Given the description of an element on the screen output the (x, y) to click on. 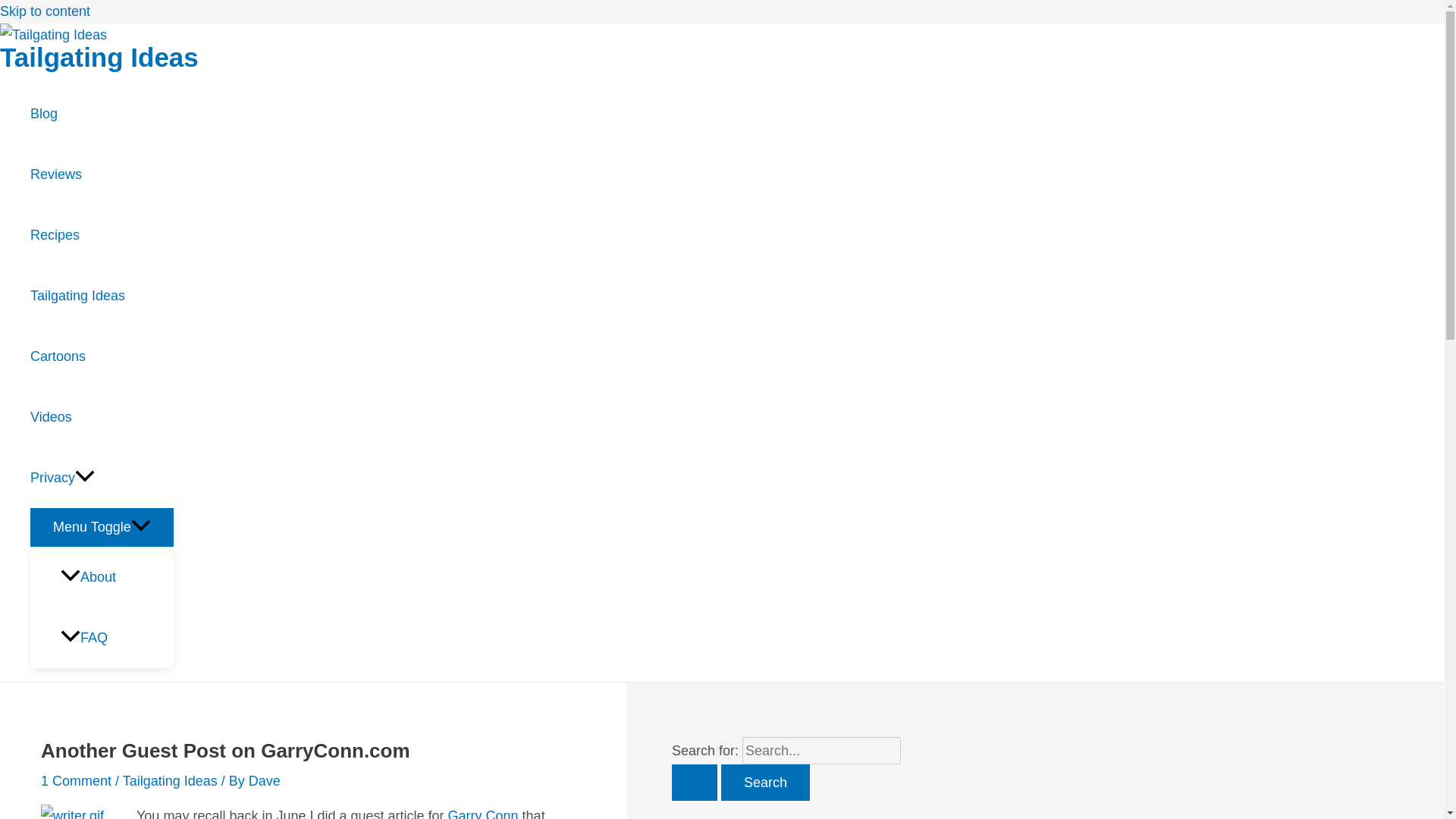
Skip to content (45, 11)
Blog (101, 113)
FAQ (117, 637)
Videos (101, 416)
Garry Conn (483, 813)
1 Comment (76, 780)
Tailgating Ideas (99, 57)
Dave (264, 780)
Privacy (101, 477)
Tailgating Ideas (101, 295)
Recipes (101, 234)
Tailgating Ideas (169, 780)
Skip to content (45, 11)
About (117, 577)
Search (764, 782)
